Given the description of an element on the screen output the (x, y) to click on. 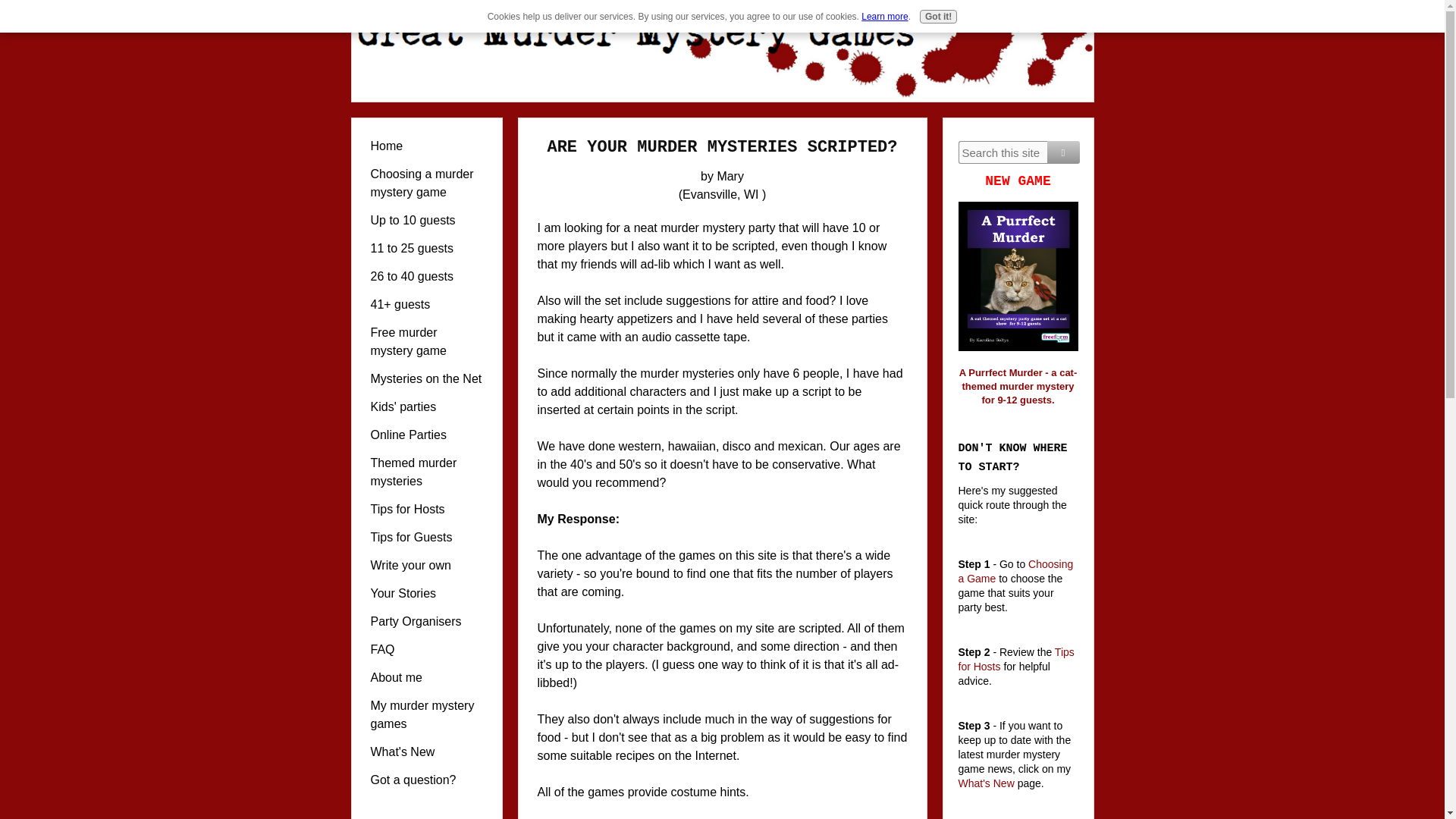
About me (426, 678)
Kids' parties (426, 406)
What's New (426, 751)
Choosing a Game (1016, 571)
Got a question? (426, 780)
Home (426, 145)
Tips for Guests (426, 537)
Write your own (426, 565)
26 to 40 guests (426, 276)
My murder mystery games (426, 714)
Online Parties (426, 434)
Choosing a murder mystery game (426, 183)
Themed murder mysteries (426, 472)
Tips for Hosts (426, 509)
Your Stories (426, 593)
